Given the description of an element on the screen output the (x, y) to click on. 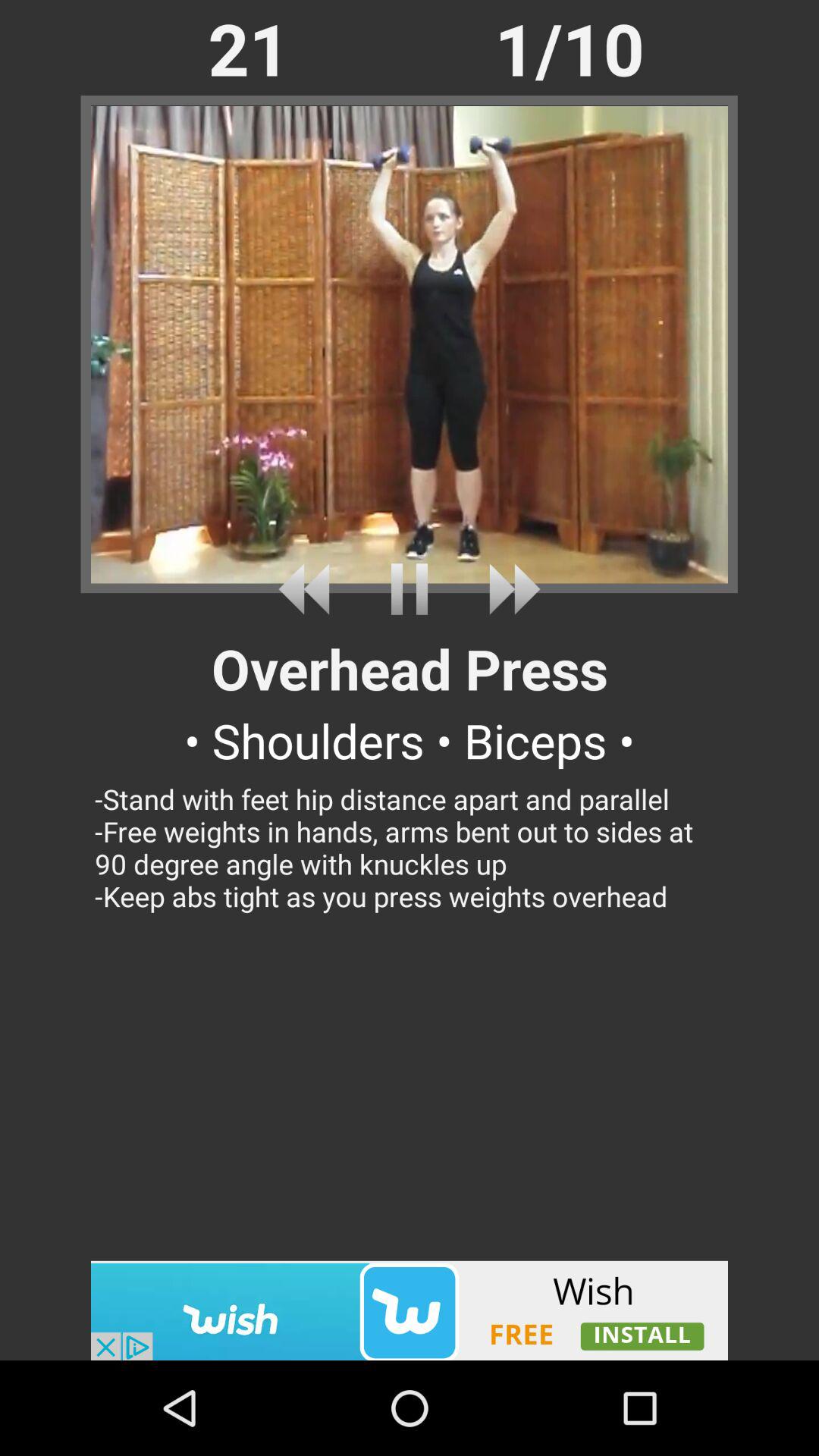
play (409, 589)
